Given the description of an element on the screen output the (x, y) to click on. 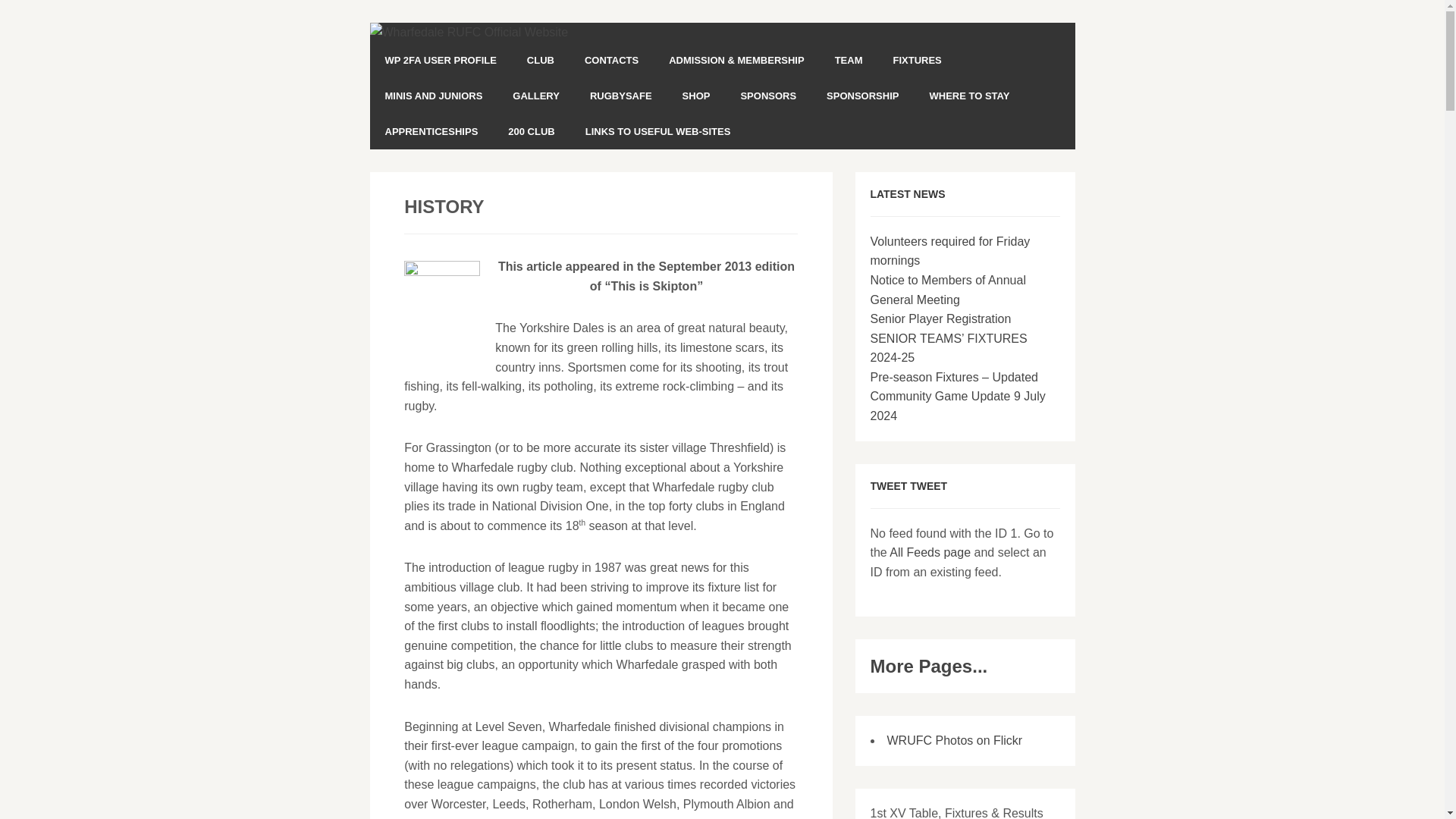
Wharfedale RUFC Official Website (469, 31)
WP 2FA USER PROFILE (440, 59)
CONTACTS (611, 59)
FIXTURES (916, 59)
CLUB (540, 59)
TEAM (848, 59)
